Given the description of an element on the screen output the (x, y) to click on. 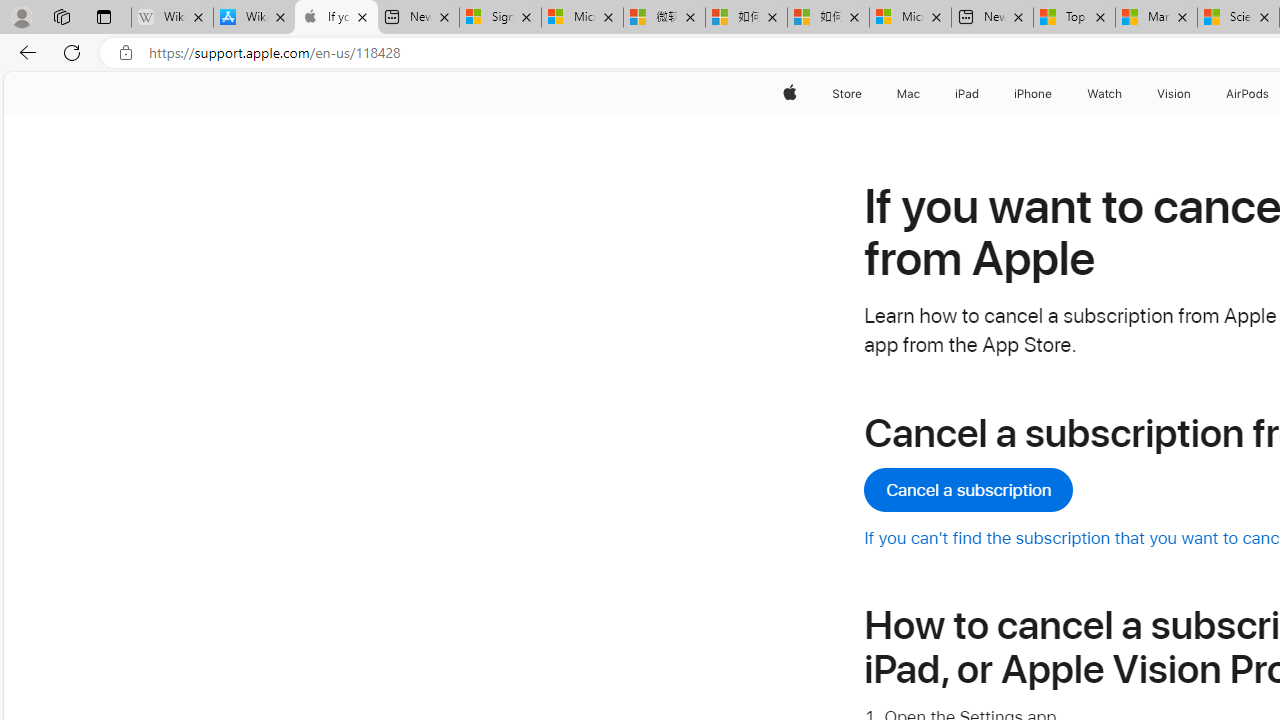
Marine life - MSN (1156, 17)
Refresh (72, 52)
Mac (908, 93)
Tab actions menu (104, 16)
Apple (789, 93)
New tab (992, 17)
Watch menu (1125, 93)
Watch (1105, 93)
iPhone (1033, 93)
Apple (789, 93)
View site information (125, 53)
Sign in to your Microsoft account (500, 17)
